Given the description of an element on the screen output the (x, y) to click on. 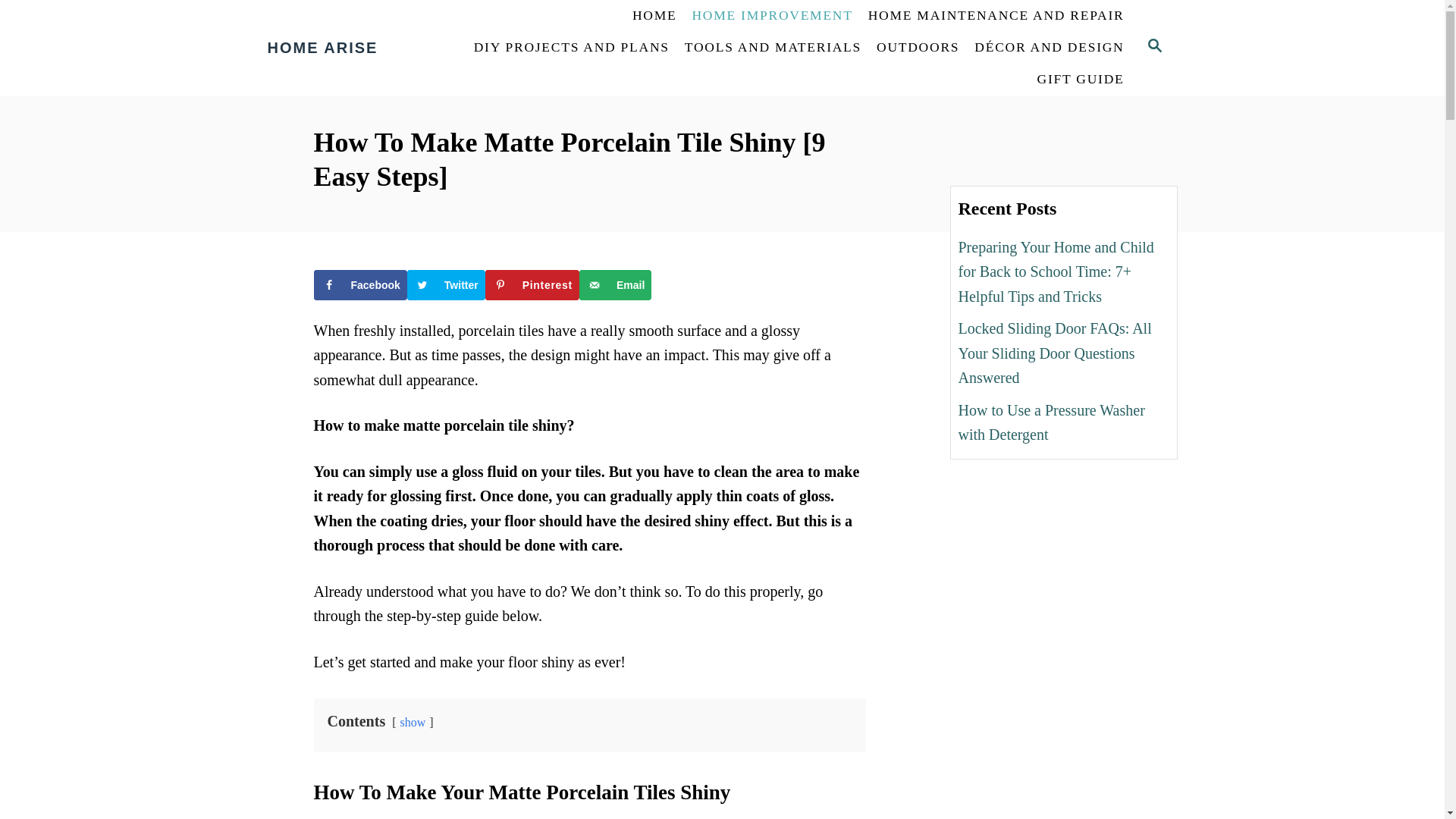
Save to Pinterest (531, 285)
Share on Twitter (445, 285)
HOME MAINTENANCE AND REPAIR (996, 15)
TOOLS AND MATERIALS (773, 47)
HOME (654, 15)
SEARCH (1153, 47)
Share on Facebook (360, 285)
Send over email (614, 285)
HOME IMPROVEMENT (772, 15)
HOME ARISE (354, 47)
